Given the description of an element on the screen output the (x, y) to click on. 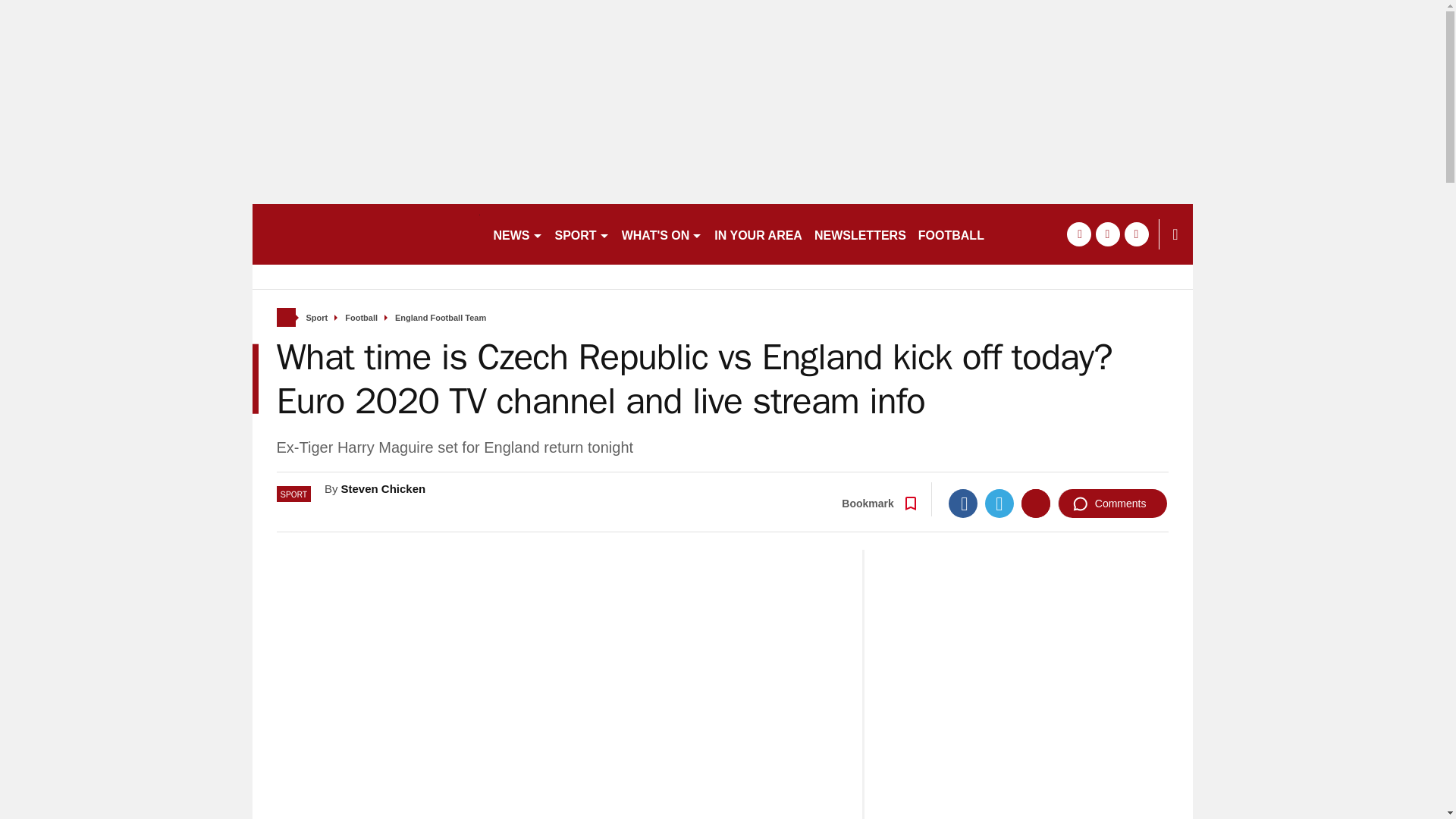
instagram (1136, 233)
SPORT (581, 233)
hulldailymail (365, 233)
NEWSLETTERS (860, 233)
twitter (1106, 233)
facebook (1077, 233)
Facebook (962, 502)
FOOTBALL (951, 233)
RUGBY LEAGUE (1045, 233)
IN YOUR AREA (757, 233)
WHAT'S ON (662, 233)
NEWS (517, 233)
Twitter (999, 502)
Comments (1112, 502)
